Given the description of an element on the screen output the (x, y) to click on. 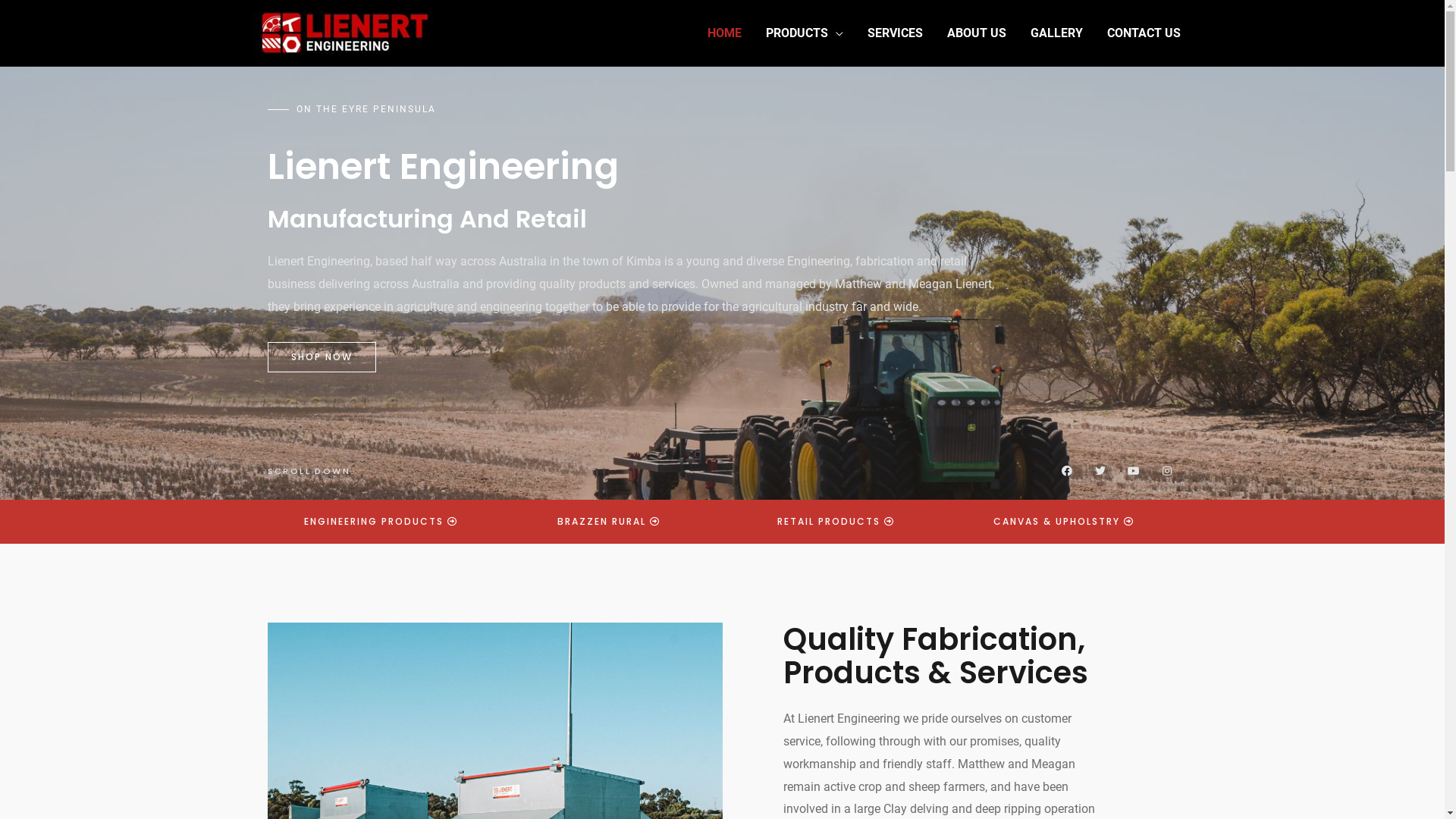
RETAIL PRODUCTS Element type: text (835, 521)
ABOUT US Element type: text (975, 32)
ENGINEERING PRODUCTS Element type: text (380, 521)
HOME Element type: text (723, 32)
BRAZZEN RURAL Element type: text (607, 521)
CONTACT US Element type: text (1143, 32)
SHOP NOW Element type: text (320, 357)
SERVICES Element type: text (895, 32)
SCROLL DOWN Element type: text (307, 470)
PRODUCTS Element type: text (804, 32)
GALLERY Element type: text (1055, 32)
CANVAS & UPHOLSTRY Element type: text (1063, 521)
